Given the description of an element on the screen output the (x, y) to click on. 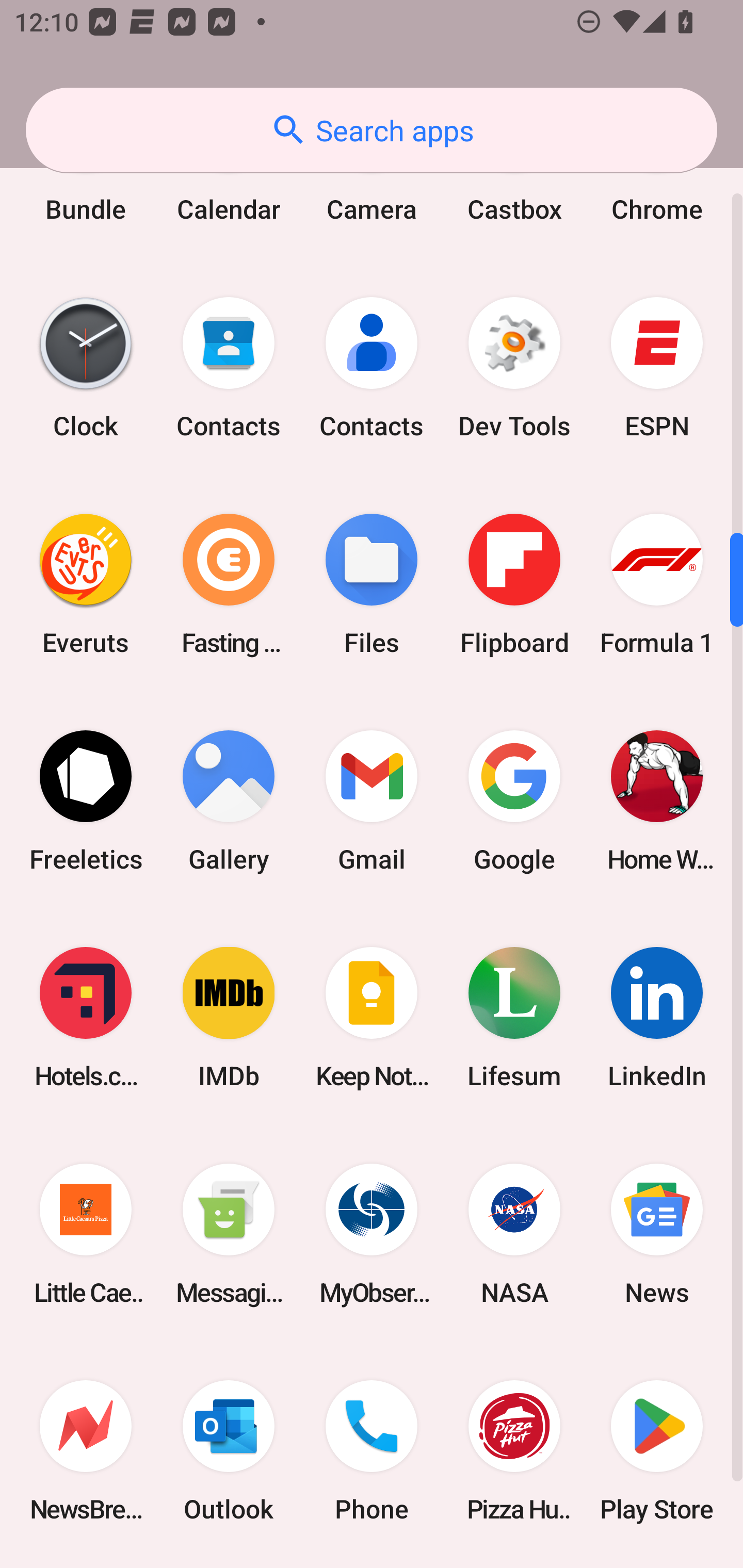
  Search apps (371, 130)
Clock (85, 367)
Contacts (228, 367)
Contacts (371, 367)
Dev Tools (514, 367)
ESPN (656, 367)
Everuts (85, 584)
Fasting Coach (228, 584)
Files (371, 584)
Flipboard (514, 584)
Formula 1 (656, 584)
Freeletics (85, 801)
Gallery (228, 801)
Gmail (371, 801)
Google (514, 801)
Home Workout (656, 801)
Hotels.com (85, 1017)
IMDb (228, 1017)
Keep Notes (371, 1017)
Lifesum (514, 1017)
LinkedIn (656, 1017)
Little Caesars Pizza (85, 1233)
Messaging (228, 1233)
MyObservatory (371, 1233)
NASA (514, 1233)
News (656, 1233)
NewsBreak (85, 1450)
Outlook (228, 1450)
Phone (371, 1450)
Pizza Hut HK & Macau (514, 1450)
Play Store (656, 1450)
